Given the description of an element on the screen output the (x, y) to click on. 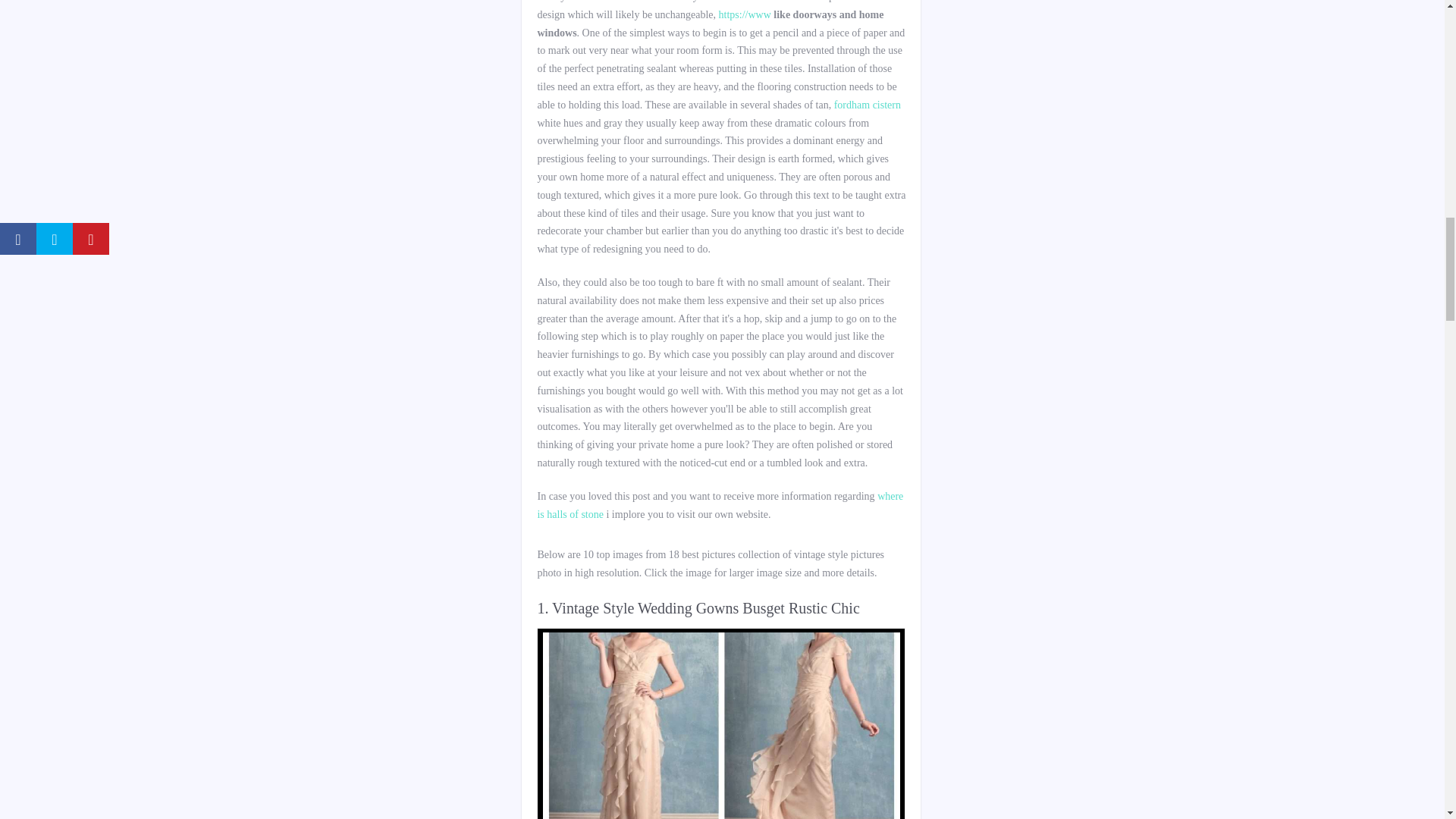
fordham cistern (867, 104)
where is halls of stone (719, 505)
